Given the description of an element on the screen output the (x, y) to click on. 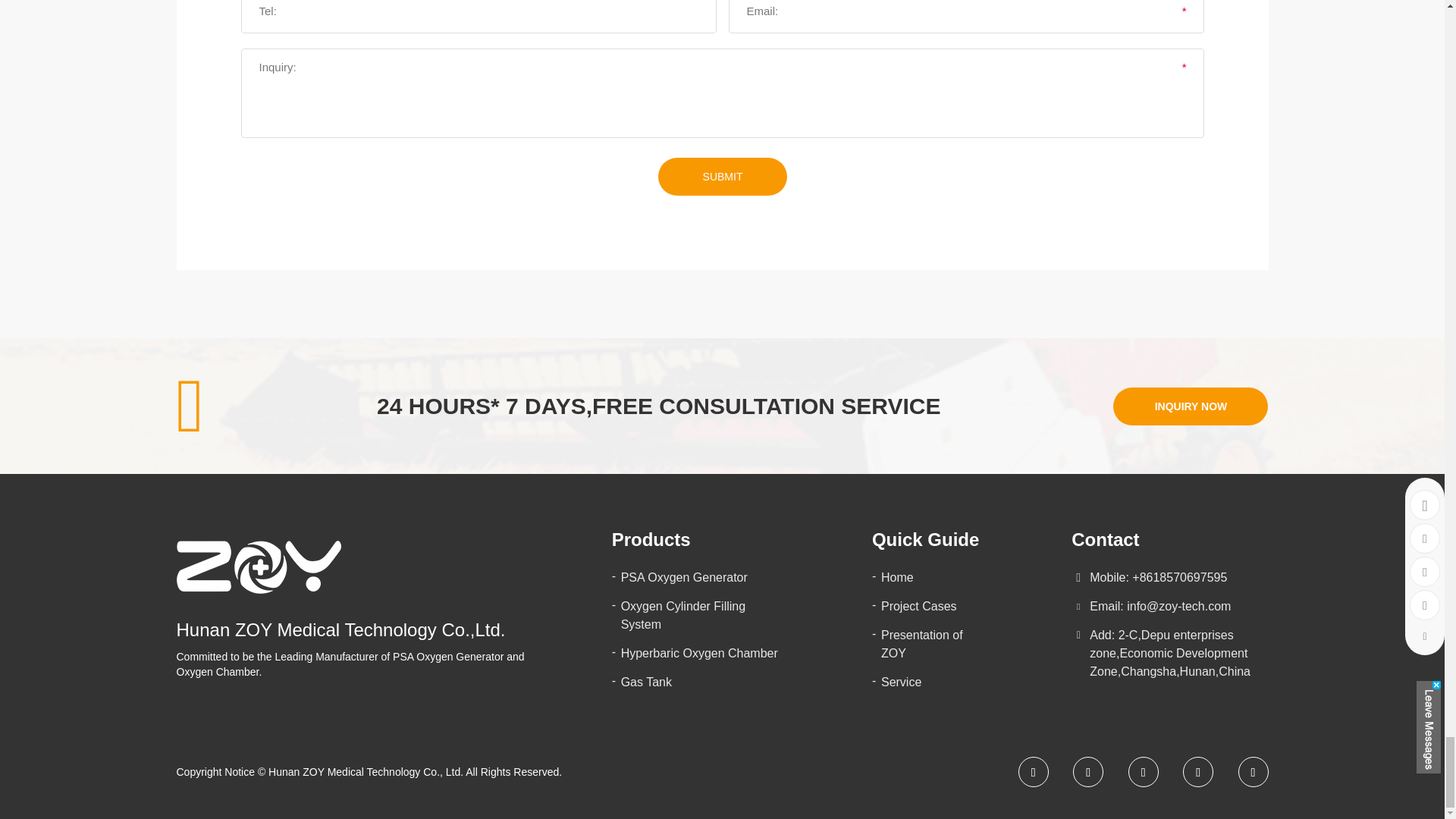
Hunan ZOY Medical Technology Co.,Ltd. (258, 565)
